Given the description of an element on the screen output the (x, y) to click on. 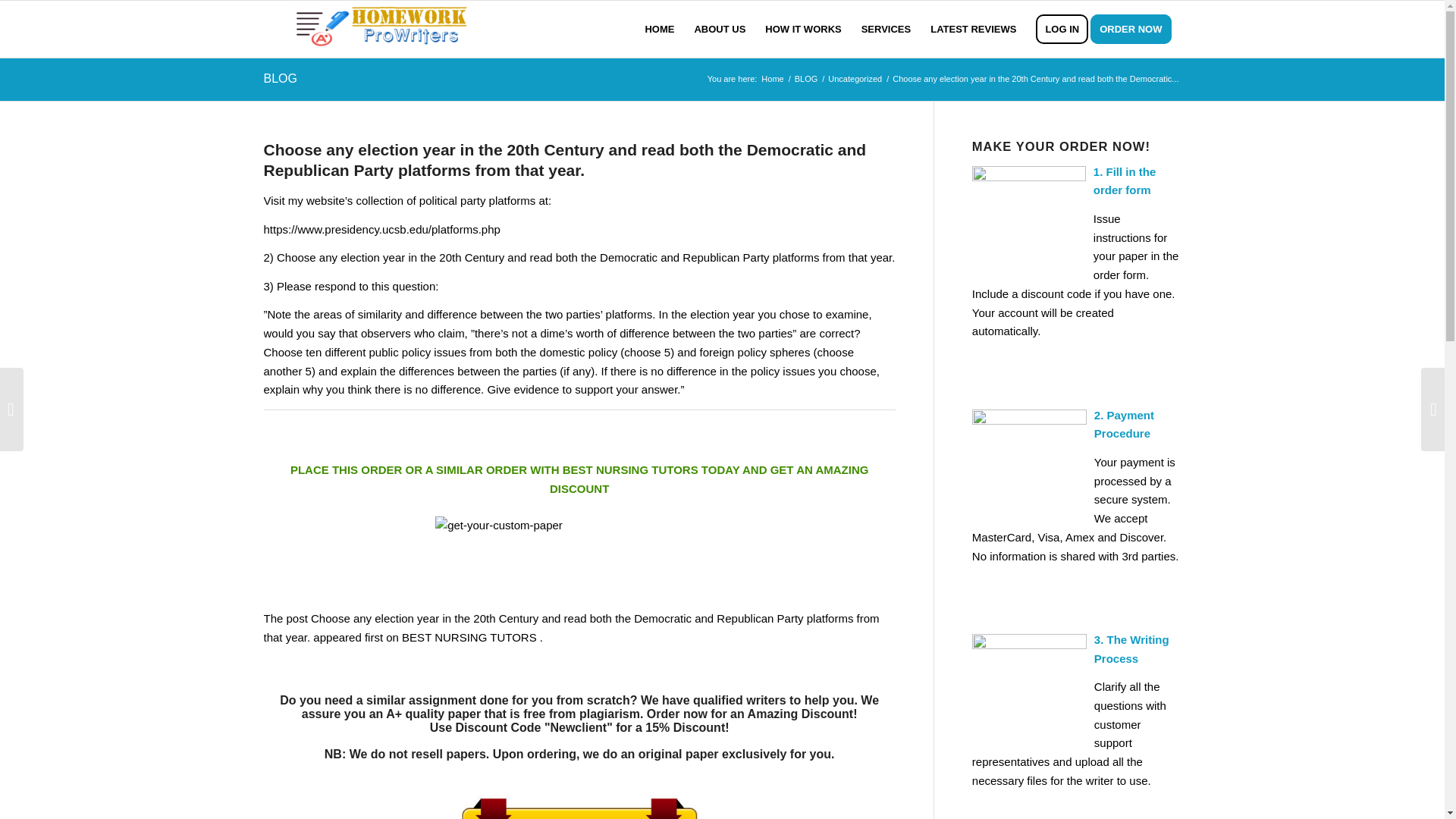
SERVICES (886, 28)
LOG IN (1061, 28)
ABOUT US (719, 28)
Permanent Link: BLOG (280, 78)
LATEST REVIEWS (973, 28)
Uncategorized (854, 79)
ORDER NOW (1135, 28)
BLOG (806, 79)
homeworkprowriters (772, 79)
